Given the description of an element on the screen output the (x, y) to click on. 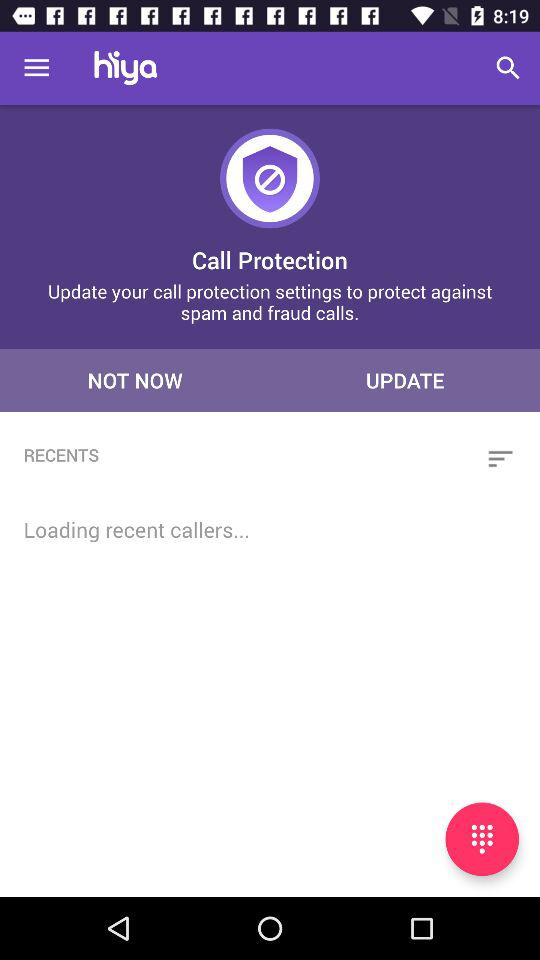
speak to text (482, 839)
